Given the description of an element on the screen output the (x, y) to click on. 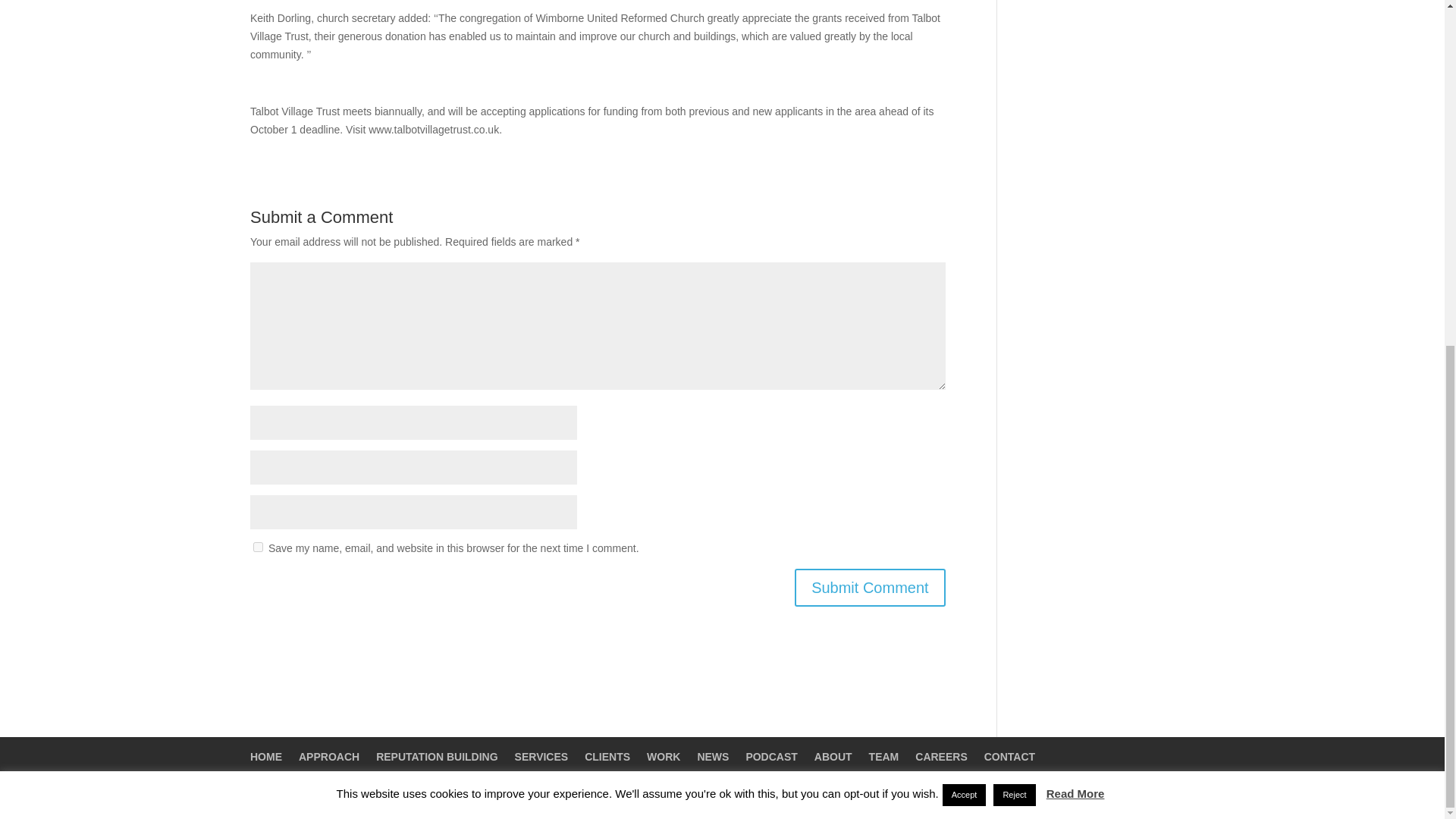
Submit Comment (869, 587)
yes (258, 547)
Submit Comment (869, 587)
NEWS (713, 756)
REPUTATION BUILDING (436, 756)
WORK (662, 756)
SERVICES (542, 756)
CLIENTS (607, 756)
APPROACH (328, 756)
HOME (266, 756)
